Given the description of an element on the screen output the (x, y) to click on. 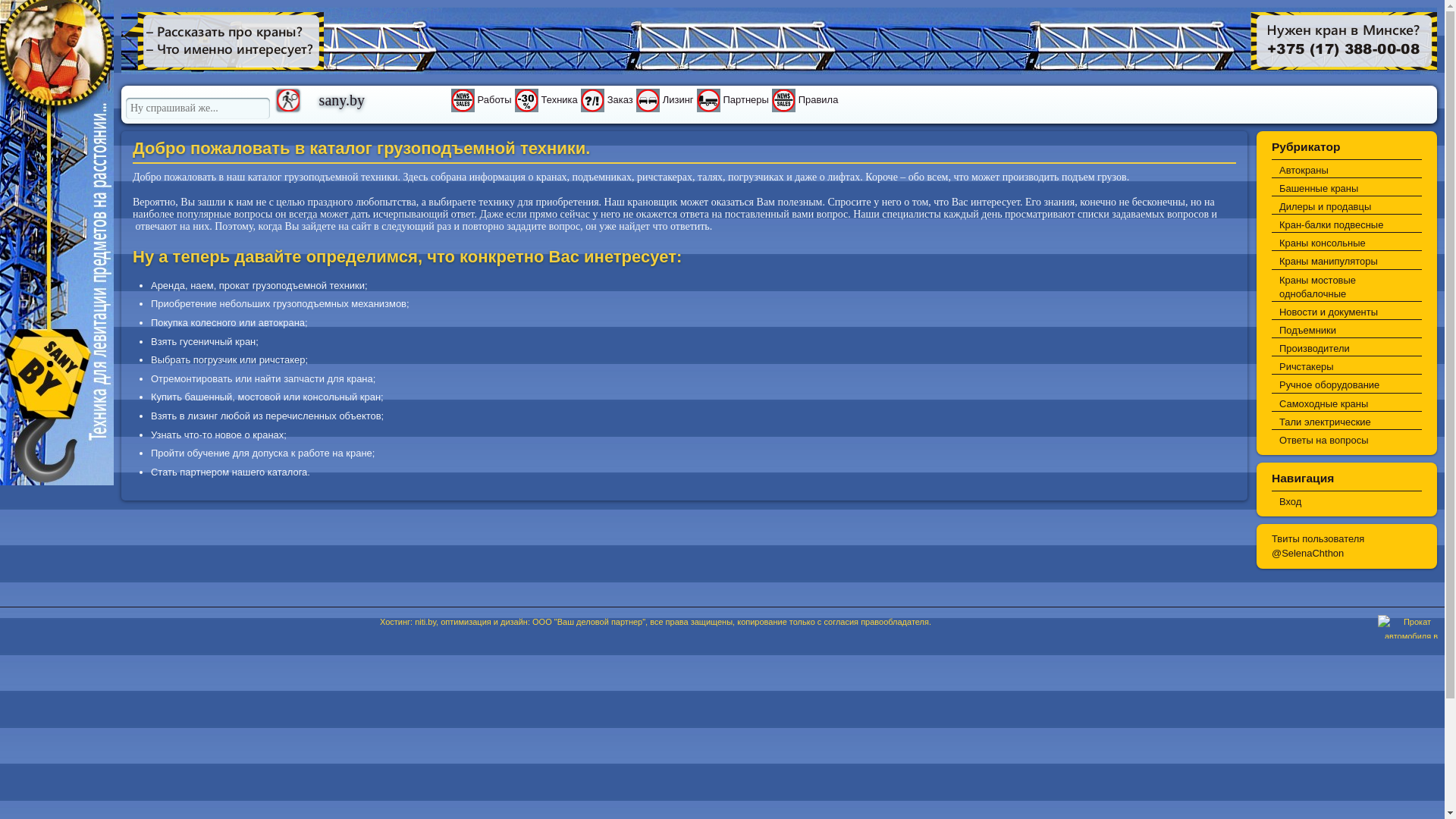
niti.by Element type: text (425, 621)
sany.by Element type: text (383, 95)
